Given the description of an element on the screen output the (x, y) to click on. 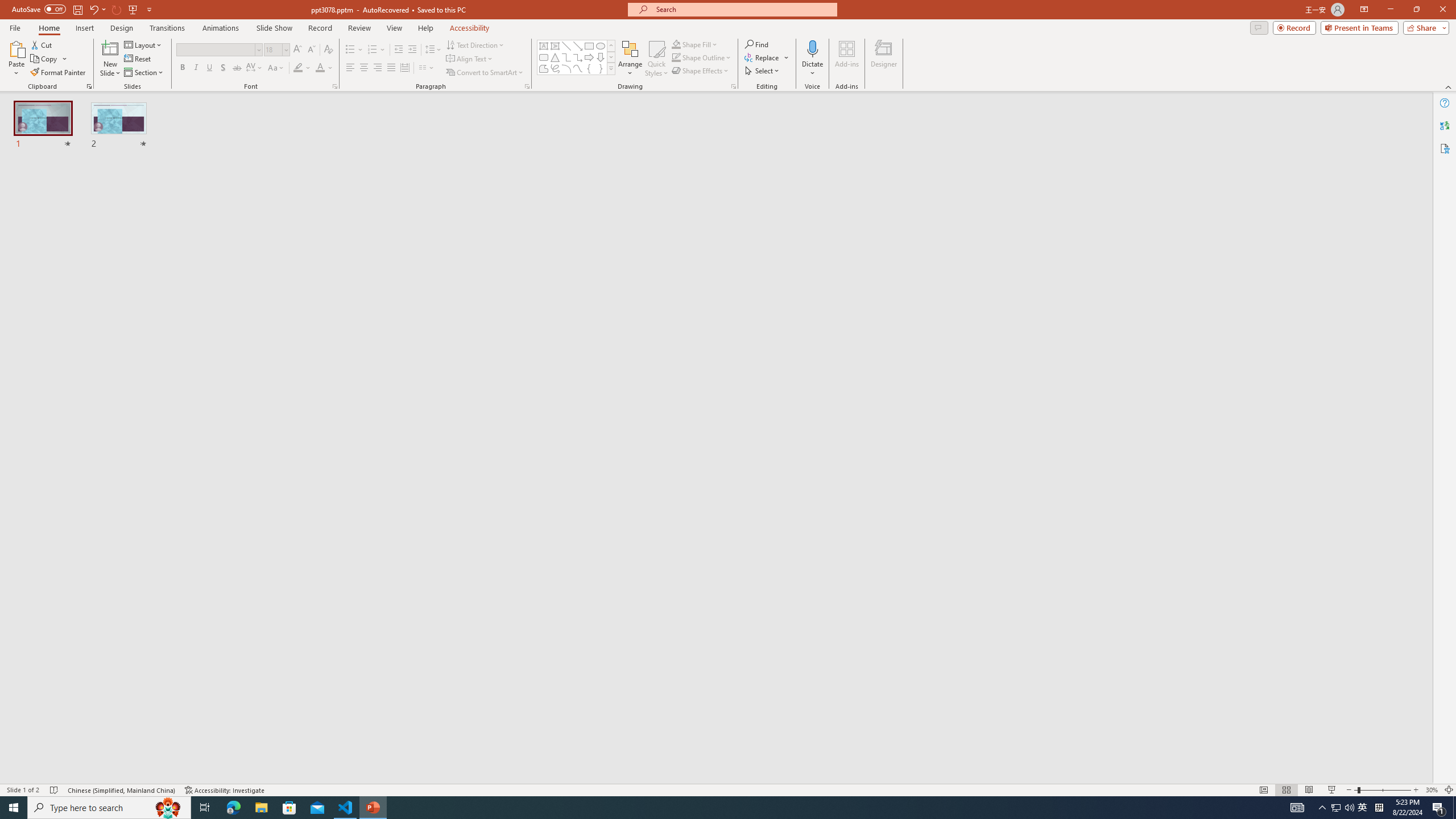
Shape Outline Green, Accent 1 (675, 56)
